Given the description of an element on the screen output the (x, y) to click on. 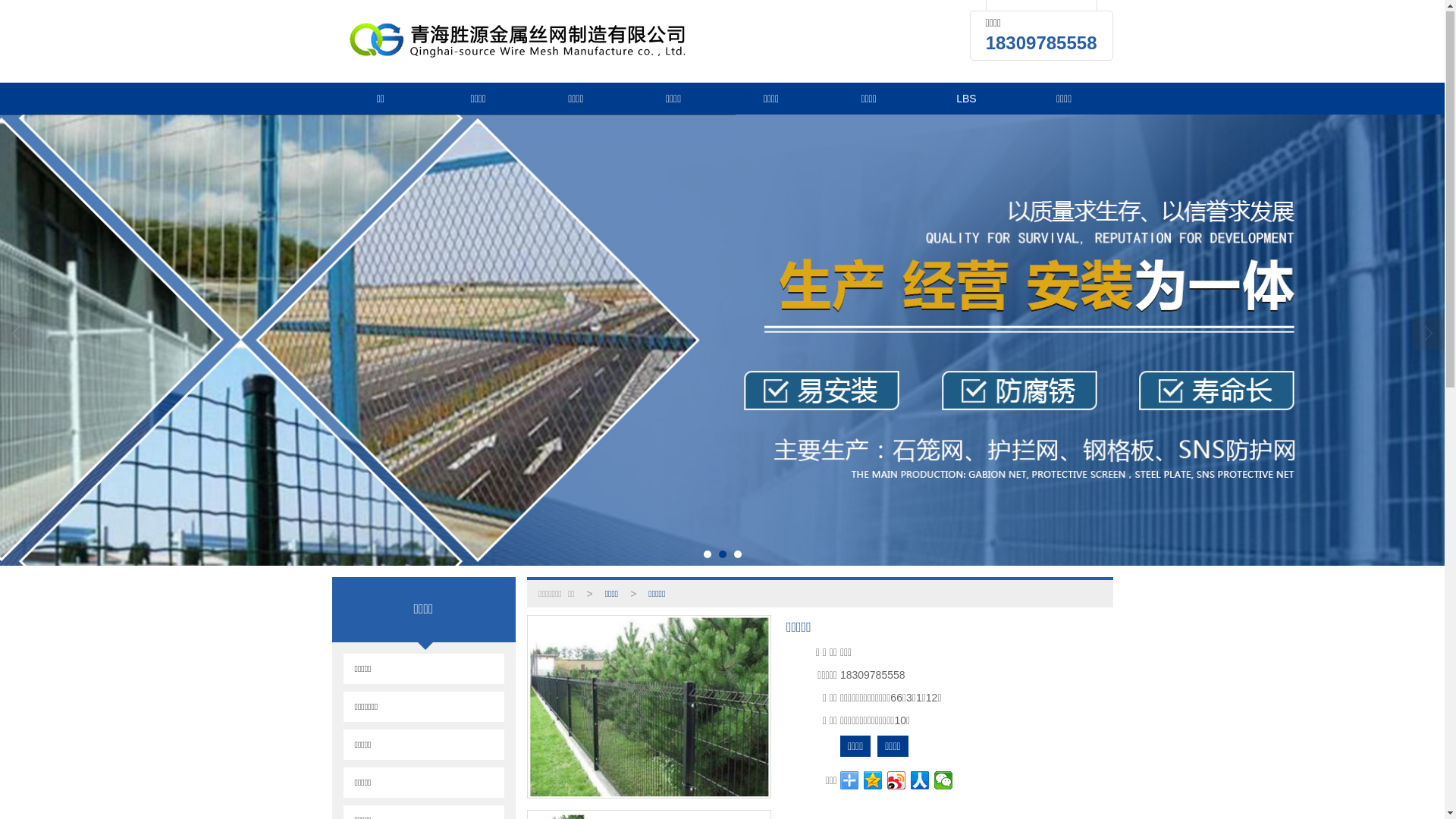
LBS Element type: text (966, 99)
